Given the description of an element on the screen output the (x, y) to click on. 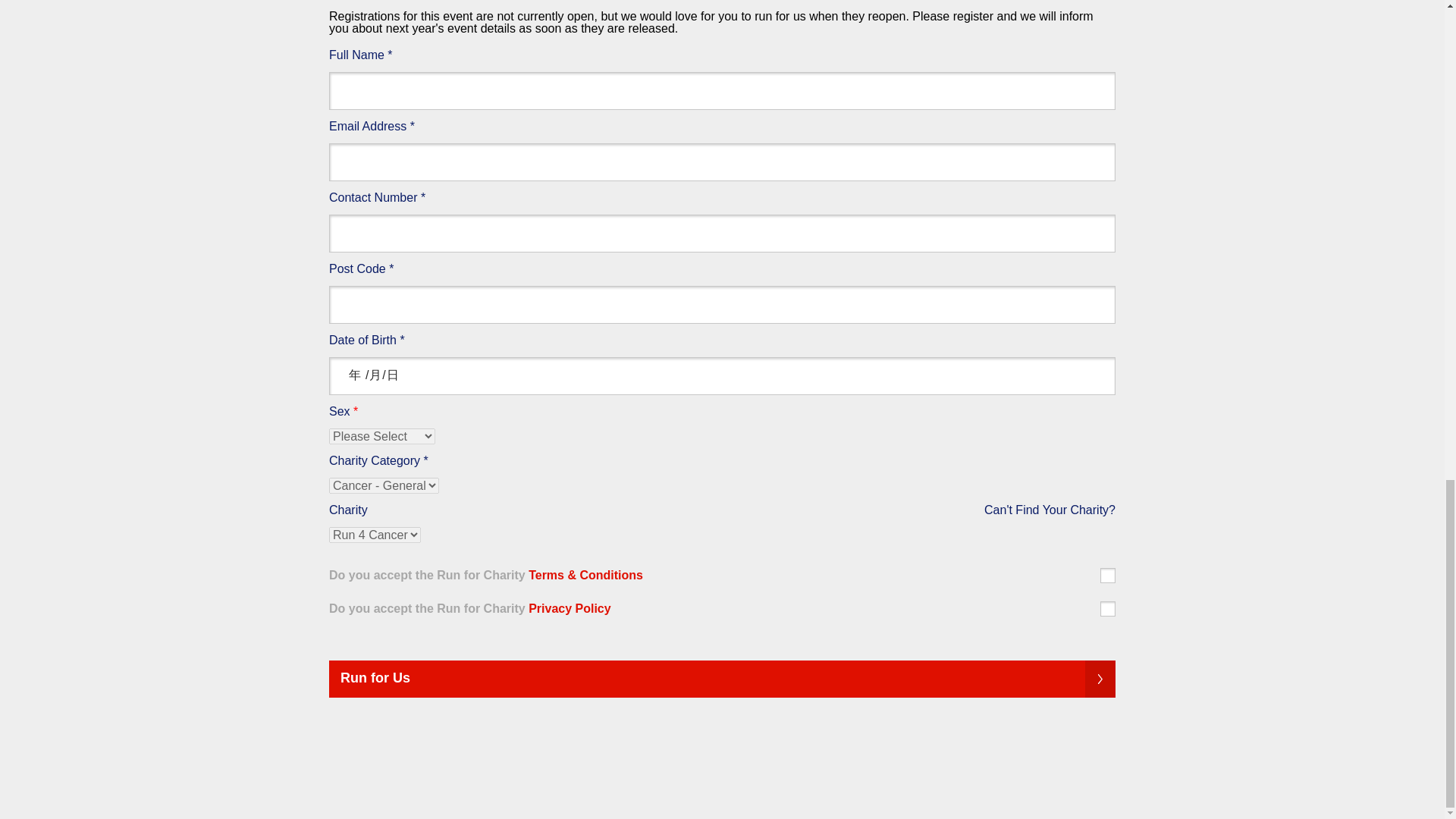
Run for Us (722, 678)
Privacy Policy (569, 608)
Can't Find Your Charity? (1049, 510)
